Given the description of an element on the screen output the (x, y) to click on. 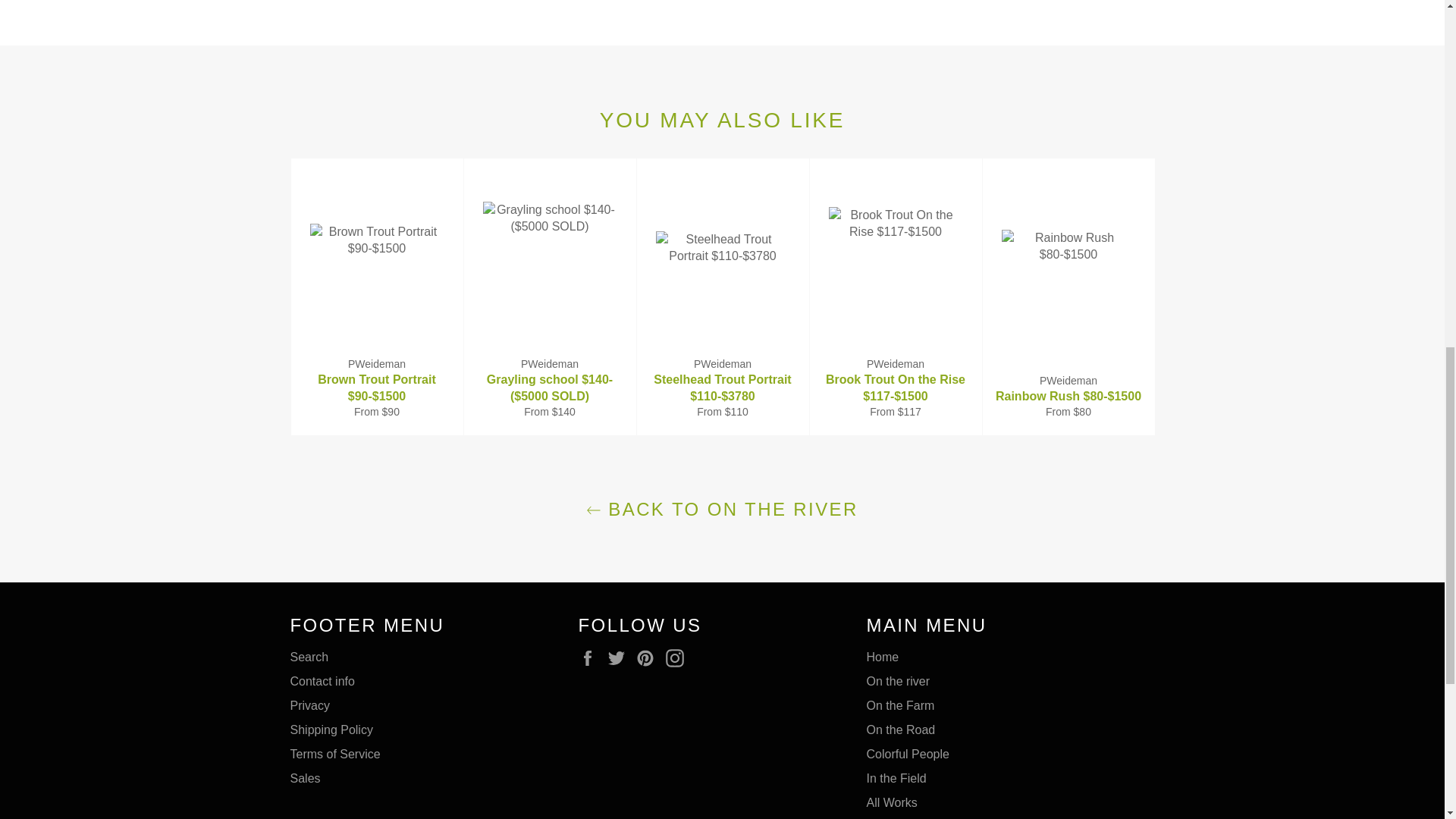
PWeideman on Twitter (620, 658)
PWeideman on Instagram (678, 658)
PWeideman on Pinterest (649, 658)
PWeideman on Facebook (591, 658)
